Given the description of an element on the screen output the (x, y) to click on. 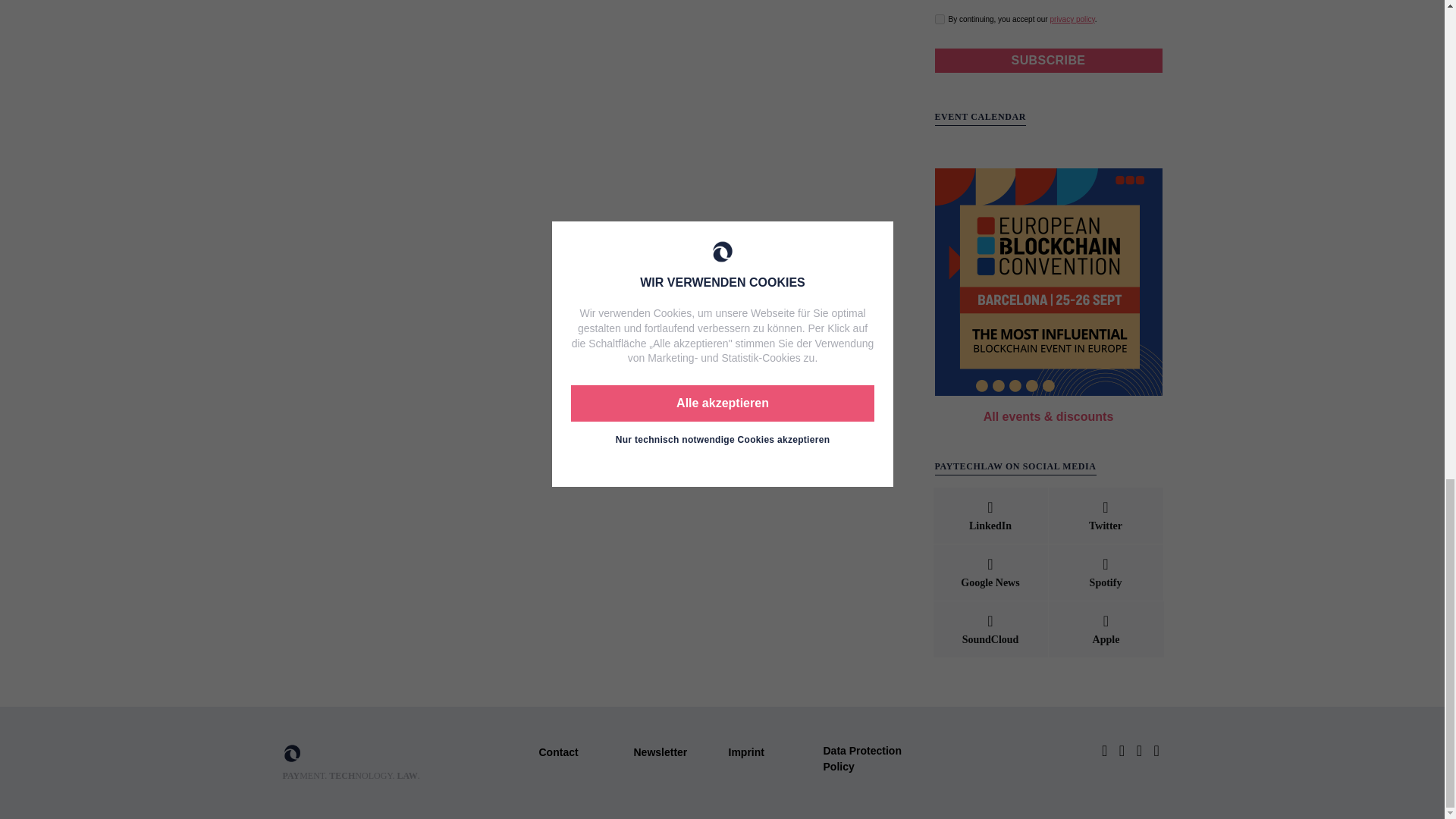
By continuing, you accept our privacy policy. (938, 19)
